Given the description of an element on the screen output the (x, y) to click on. 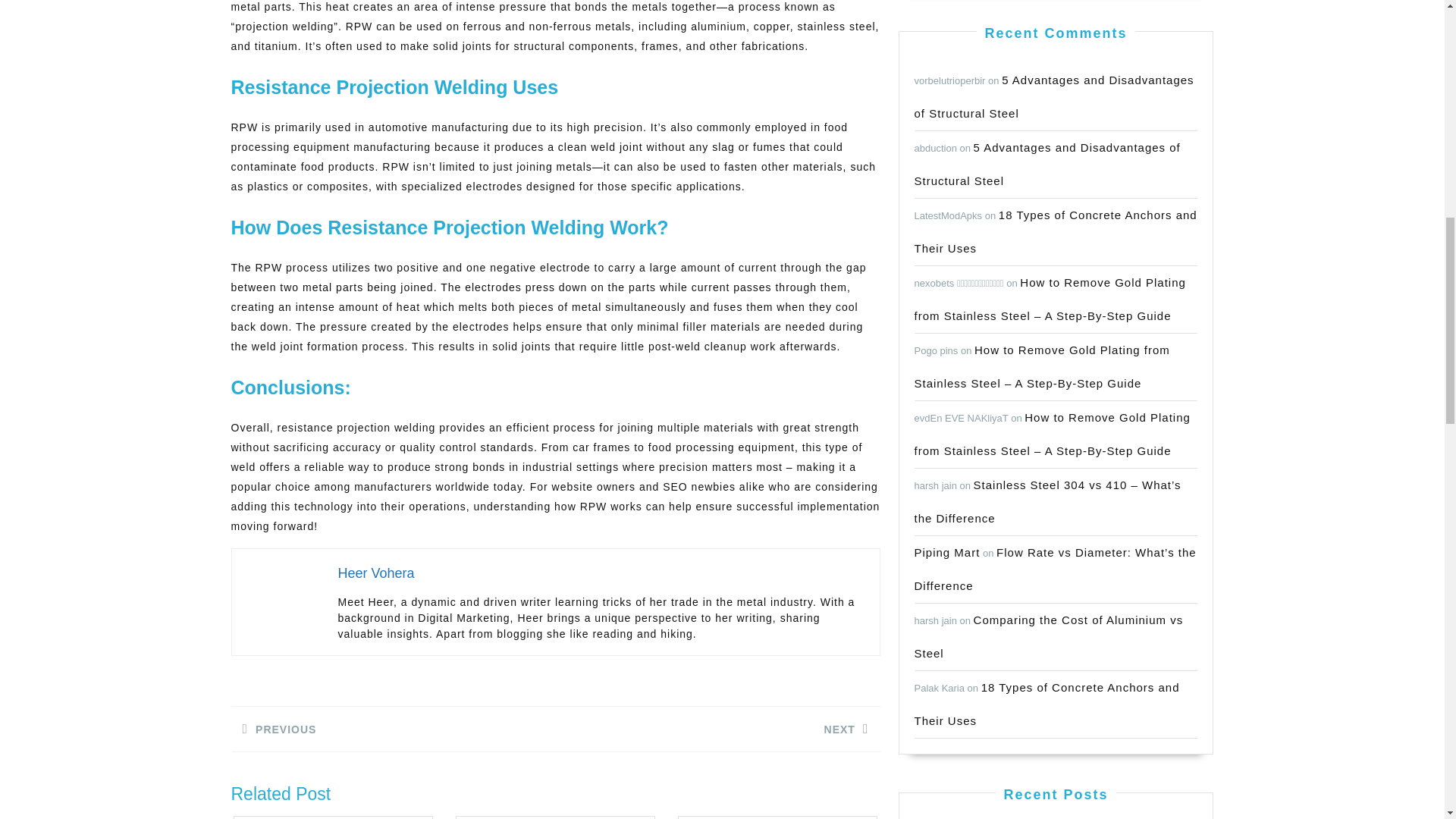
5 Advantages and Disadvantages of Structural Steel (1047, 163)
5 Advantages and Disadvantages of Structural Steel (1053, 96)
Heer Vohera (375, 572)
18 Types of Concrete Anchors and Their Uses (392, 729)
Piping Mart (716, 729)
